Given the description of an element on the screen output the (x, y) to click on. 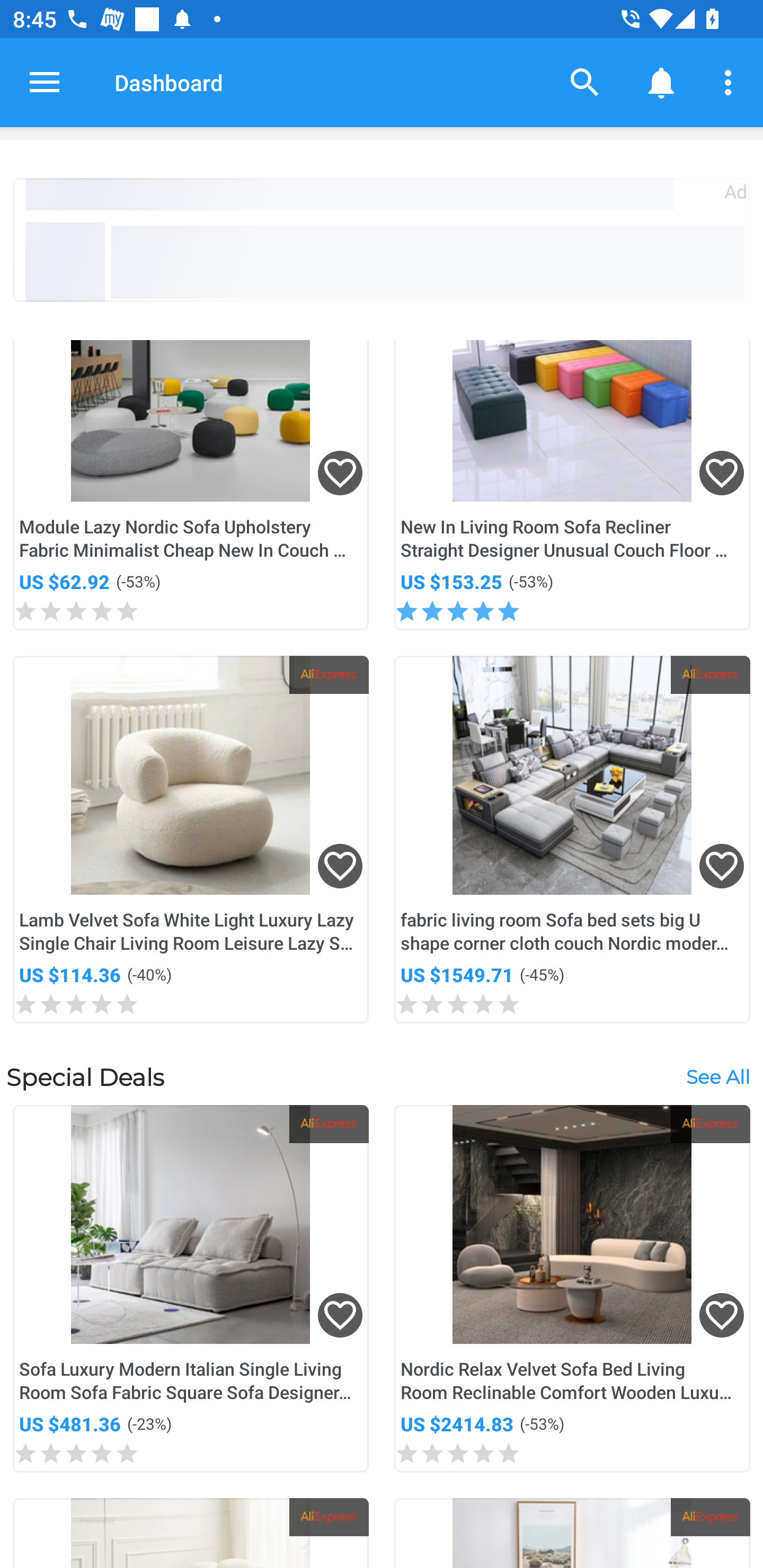
Open navigation drawer (44, 82)
Search (585, 81)
More options (731, 81)
See All (717, 1076)
